Given the description of an element on the screen output the (x, y) to click on. 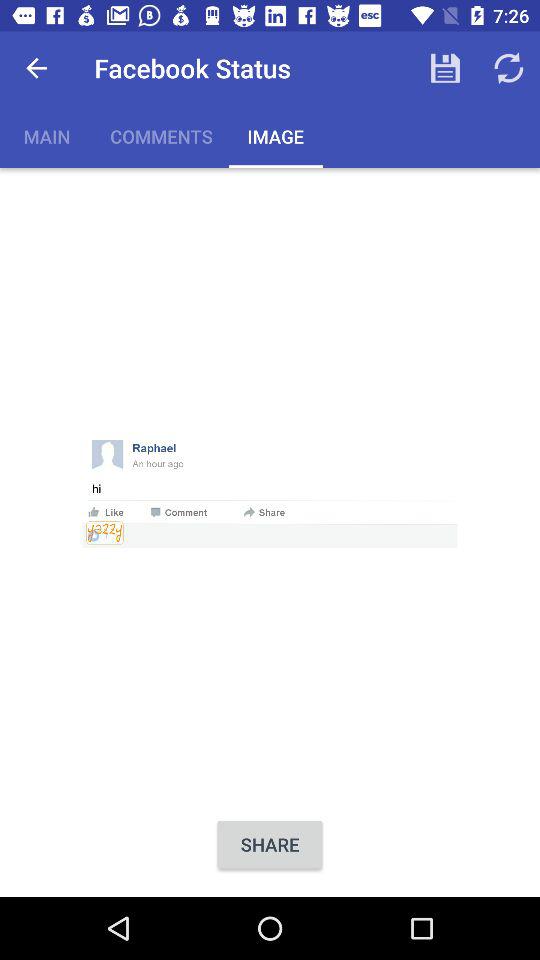
choose the app next to the facebook status item (444, 67)
